Given the description of an element on the screen output the (x, y) to click on. 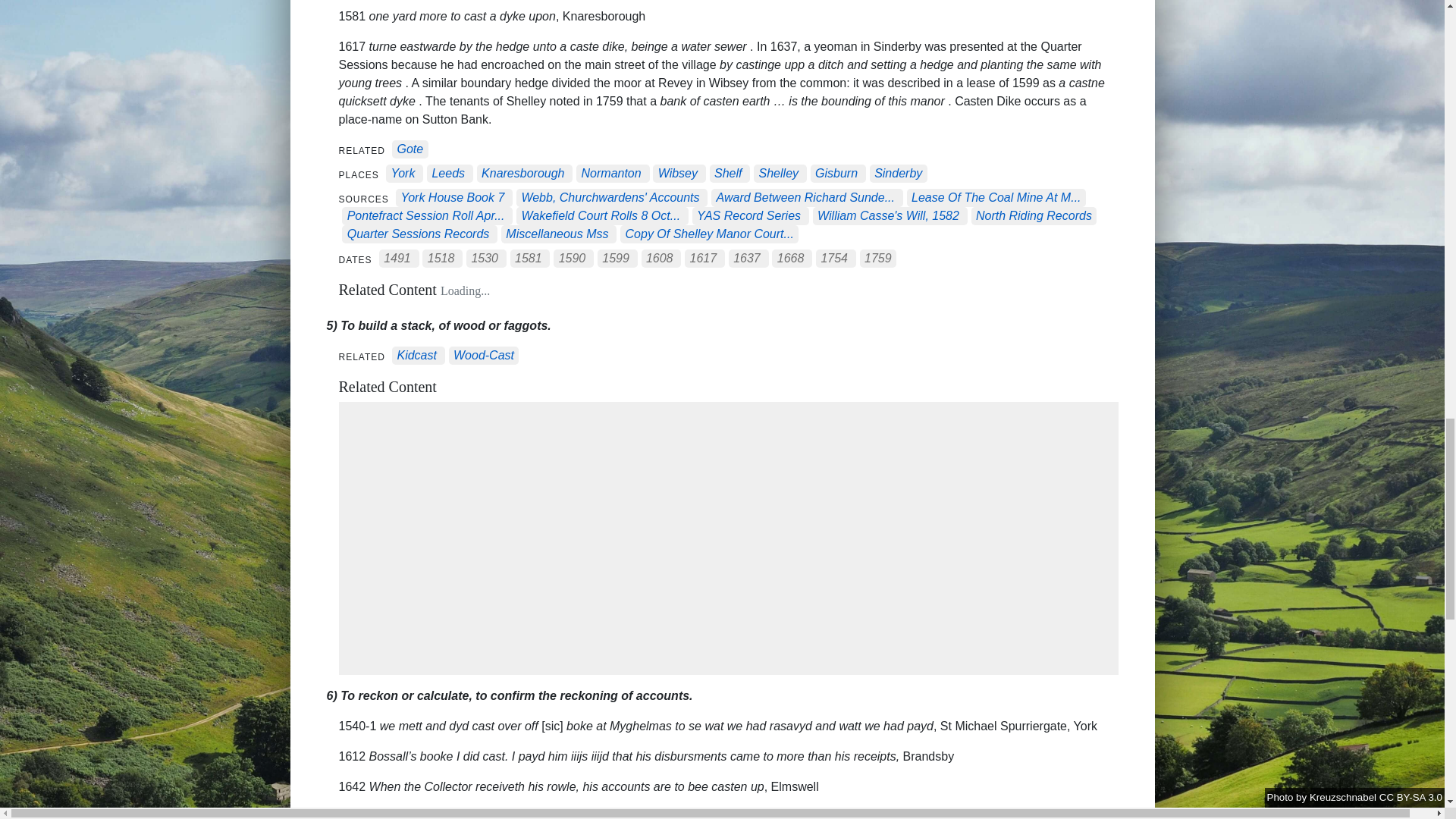
Shelley (777, 173)
YAS Record Series (748, 215)
Leeds (447, 173)
York (402, 173)
Gote (409, 149)
Gisburn (836, 173)
Lease Of The Coal Mine At M... (996, 197)
York House Book 7 (451, 197)
William Casse'S Will, 1582 (887, 215)
Wibsey (677, 173)
Shelf (727, 173)
Wakefield Court Rolls 8 Oct... (601, 215)
Pontefract Session Roll Apr... (426, 215)
Knaresborough (522, 173)
Normanton (611, 173)
